Given the description of an element on the screen output the (x, y) to click on. 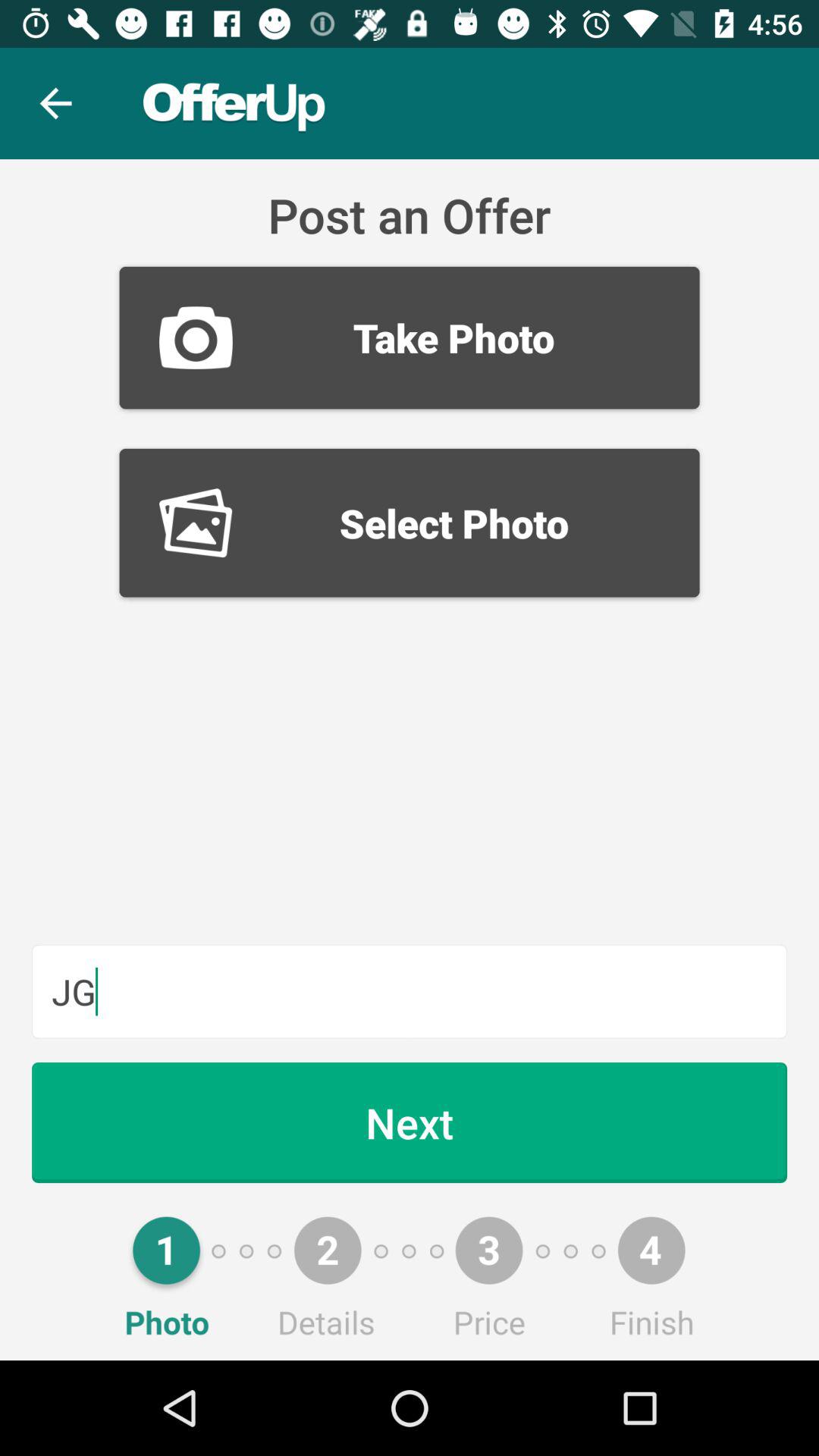
open the icon above the next item (409, 991)
